Given the description of an element on the screen output the (x, y) to click on. 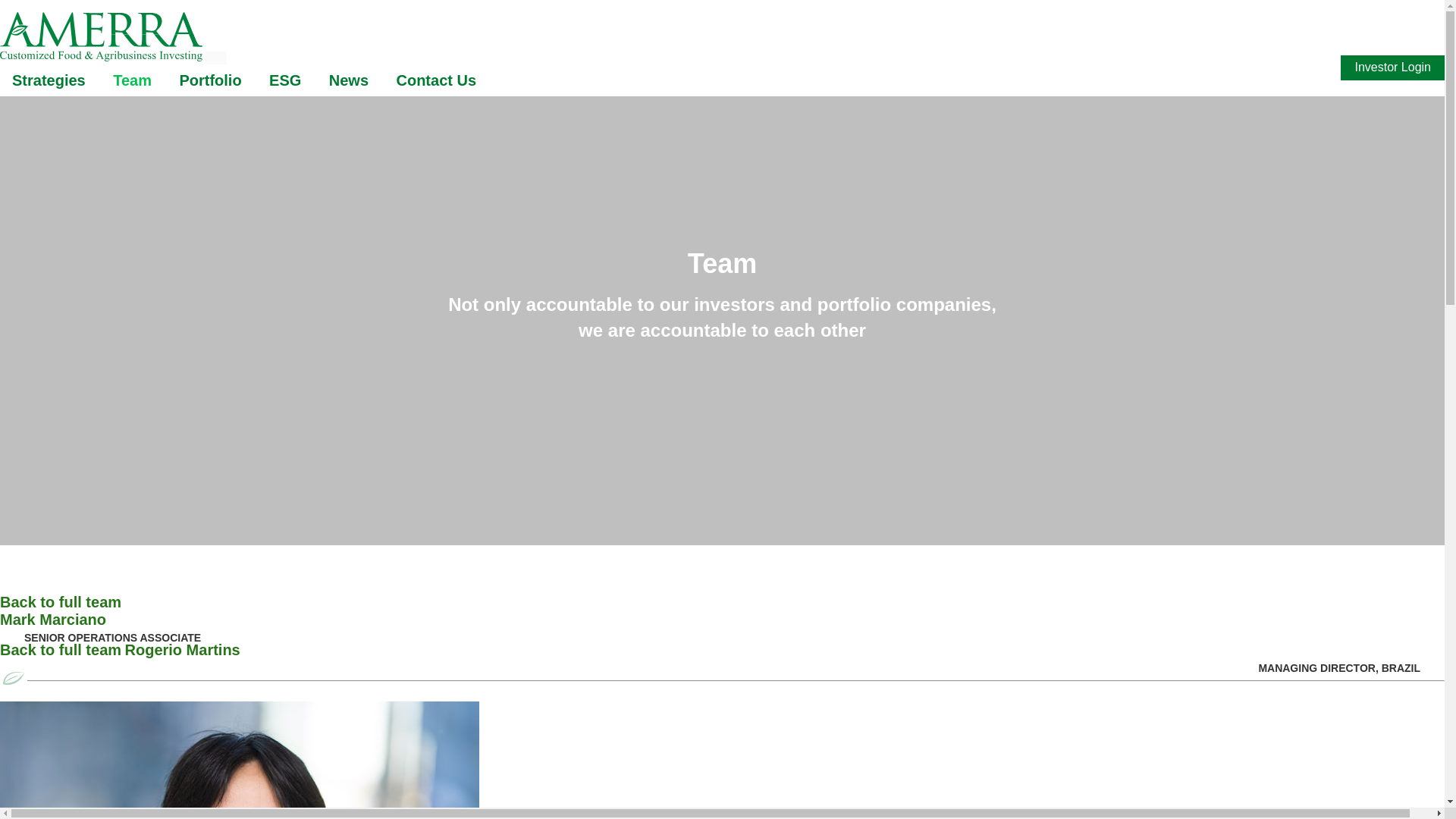
Investor Login (1392, 67)
Marques Miyake (722, 634)
News (239, 760)
ESG (348, 80)
Back to full team (285, 80)
Back to full team (722, 656)
Team (60, 649)
Portfolio (60, 601)
